Given the description of an element on the screen output the (x, y) to click on. 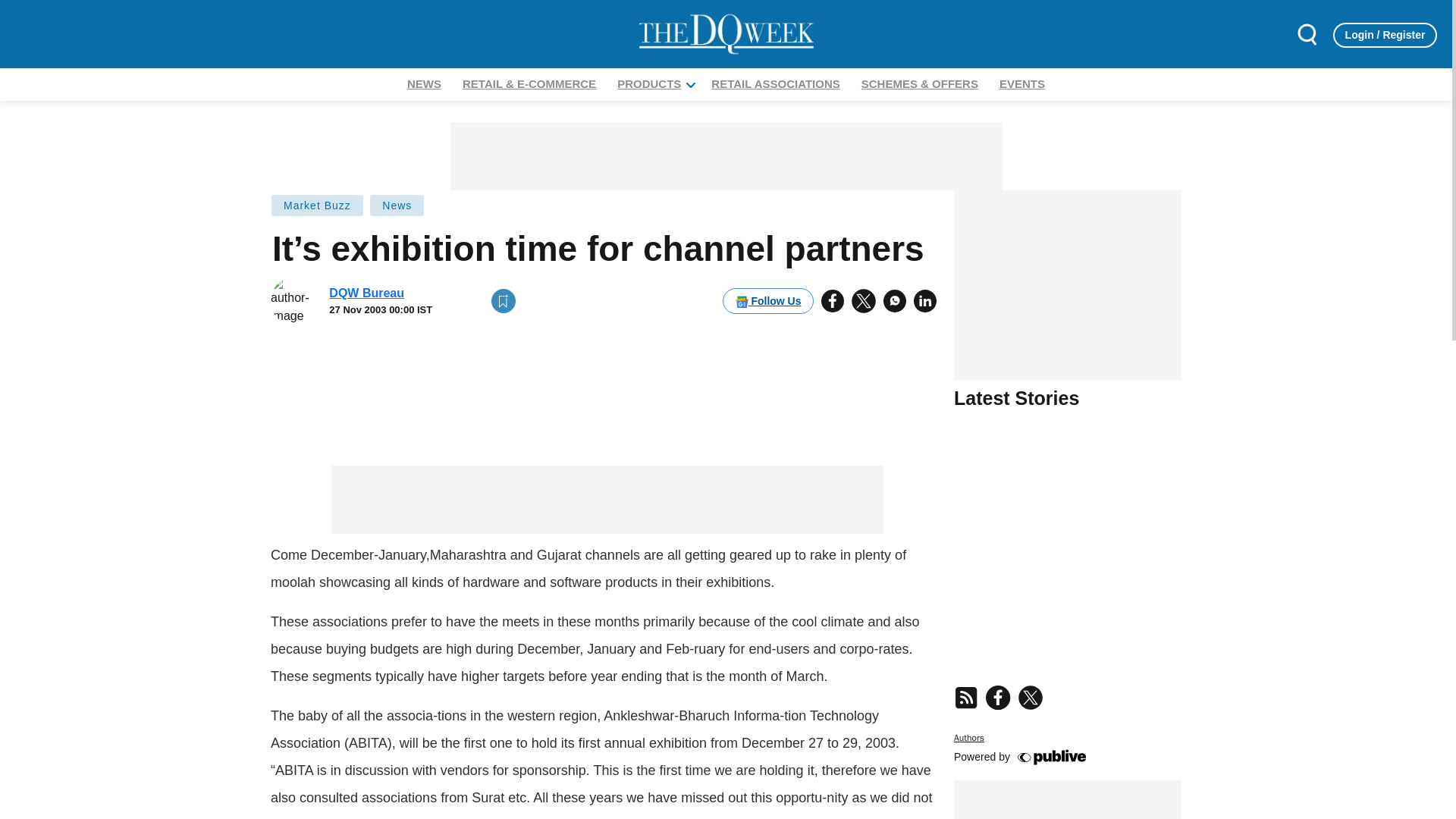
Market Buzz (317, 205)
Authors (968, 737)
NEWS (423, 83)
PRODUCTS (648, 83)
RETAIL ASSOCIATIONS (775, 83)
News (397, 205)
Follow Us (767, 300)
EVENTS (1066, 726)
DQW Bureau (1021, 83)
